Given the description of an element on the screen output the (x, y) to click on. 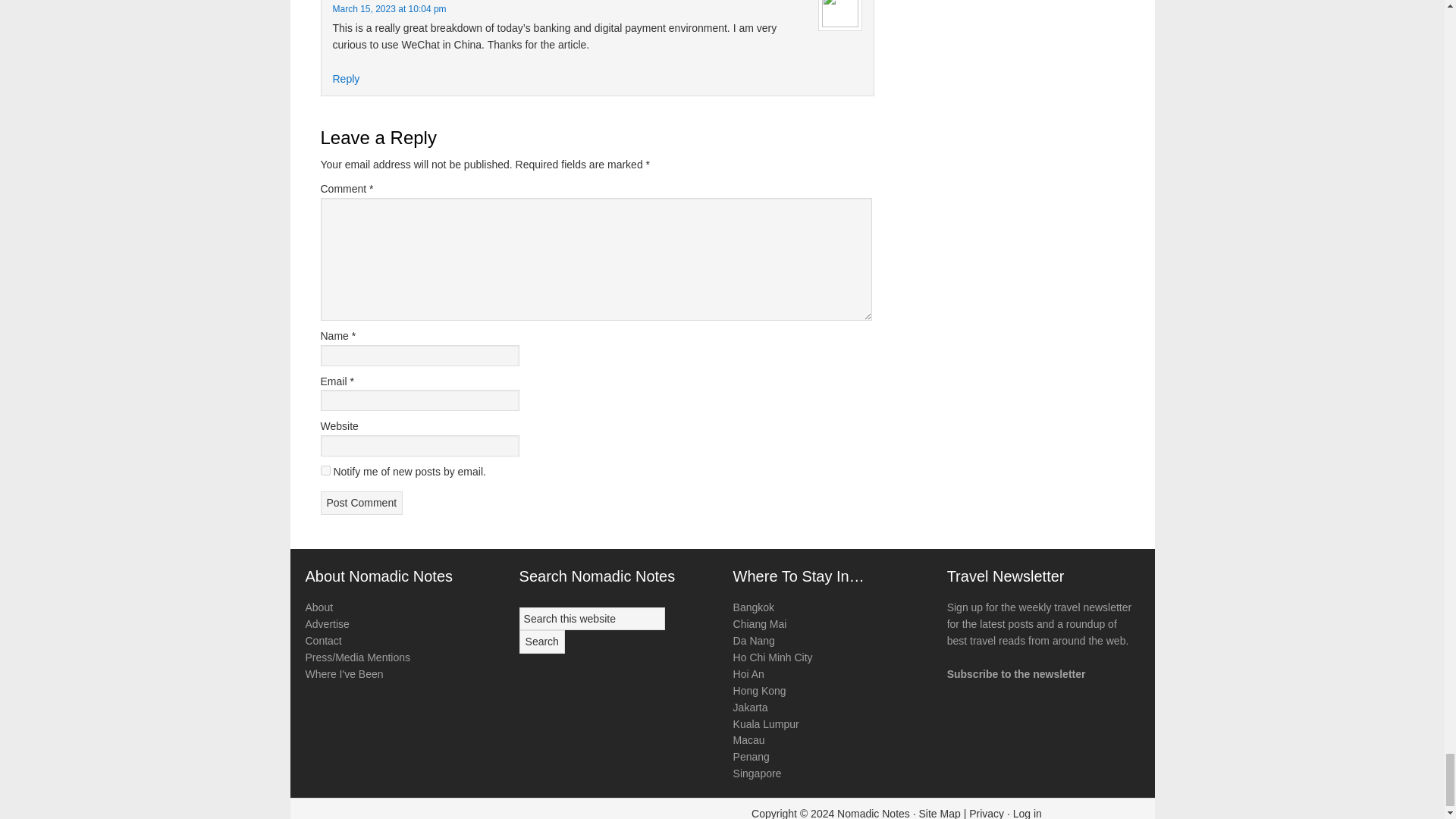
subscribe (325, 470)
Search (541, 641)
Search (541, 641)
Post Comment (361, 503)
